Given the description of an element on the screen output the (x, y) to click on. 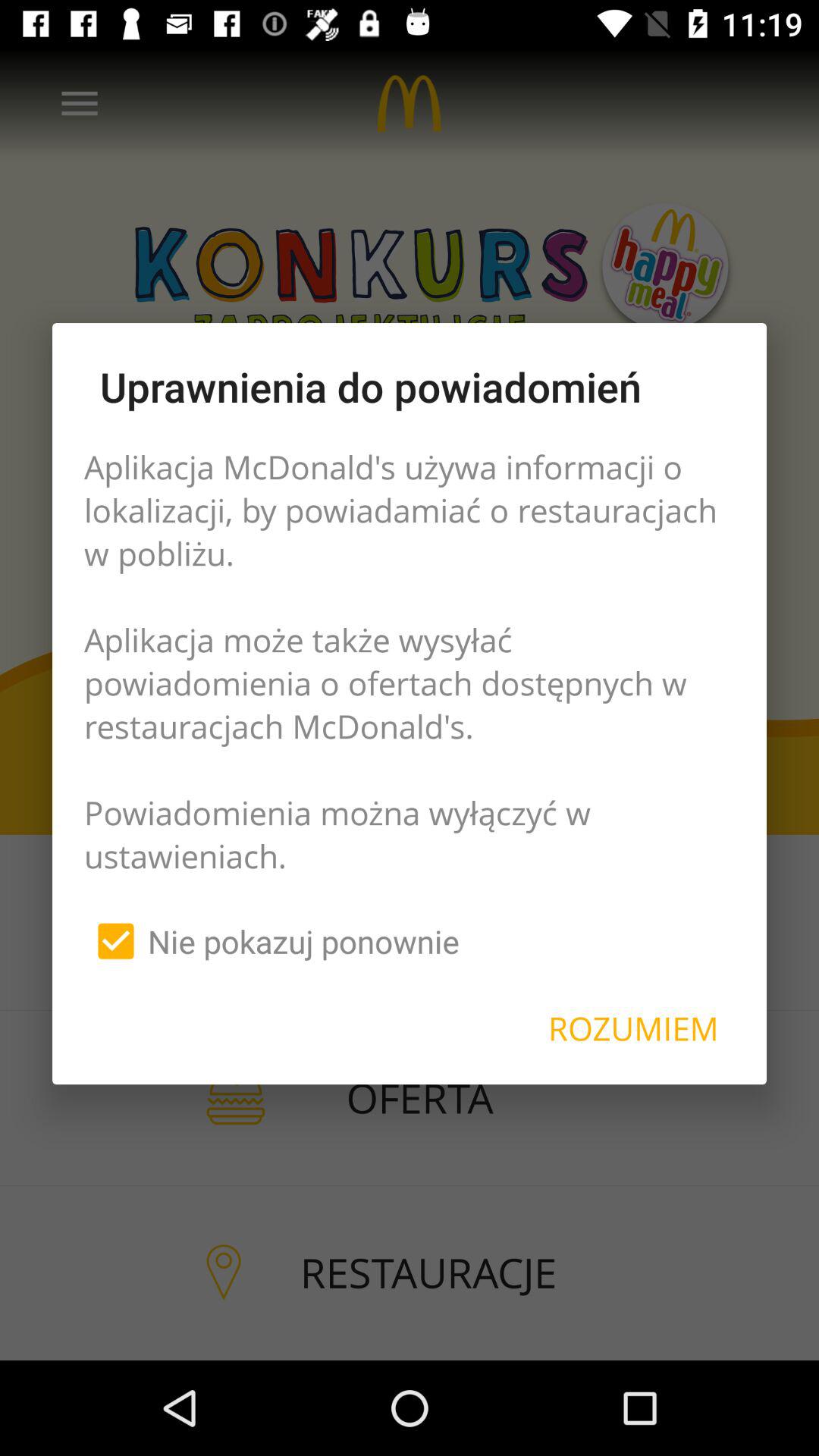
turn on item on the left (271, 941)
